Given the description of an element on the screen output the (x, y) to click on. 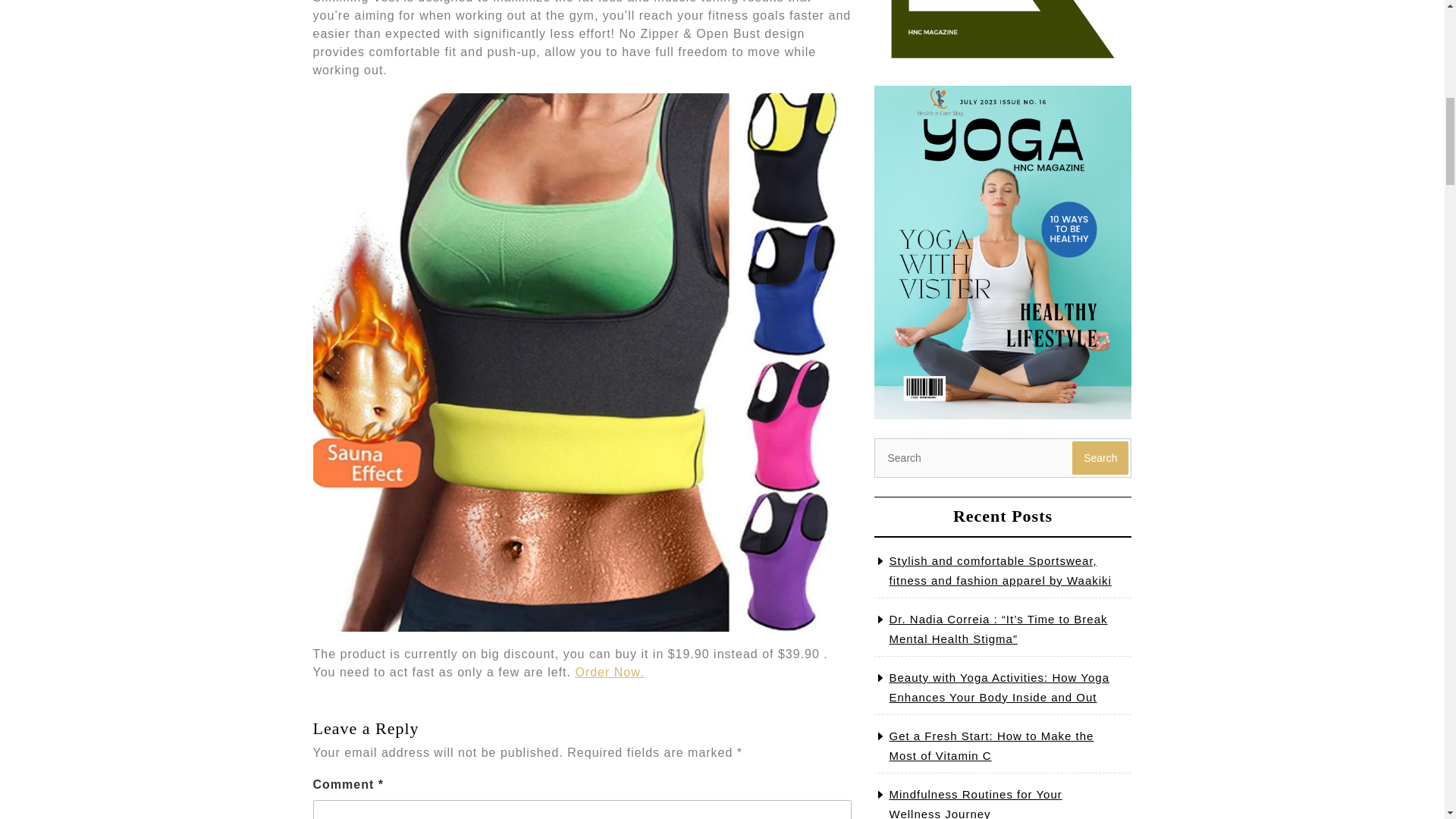
Our Magazine Aug Edition (1002, 33)
Search (1099, 458)
Order Now. (609, 671)
Get a Fresh Start: How to Make the Most of Vitamin C (990, 745)
Mindfulness Routines for Your Wellness Journey (974, 803)
